Given the description of an element on the screen output the (x, y) to click on. 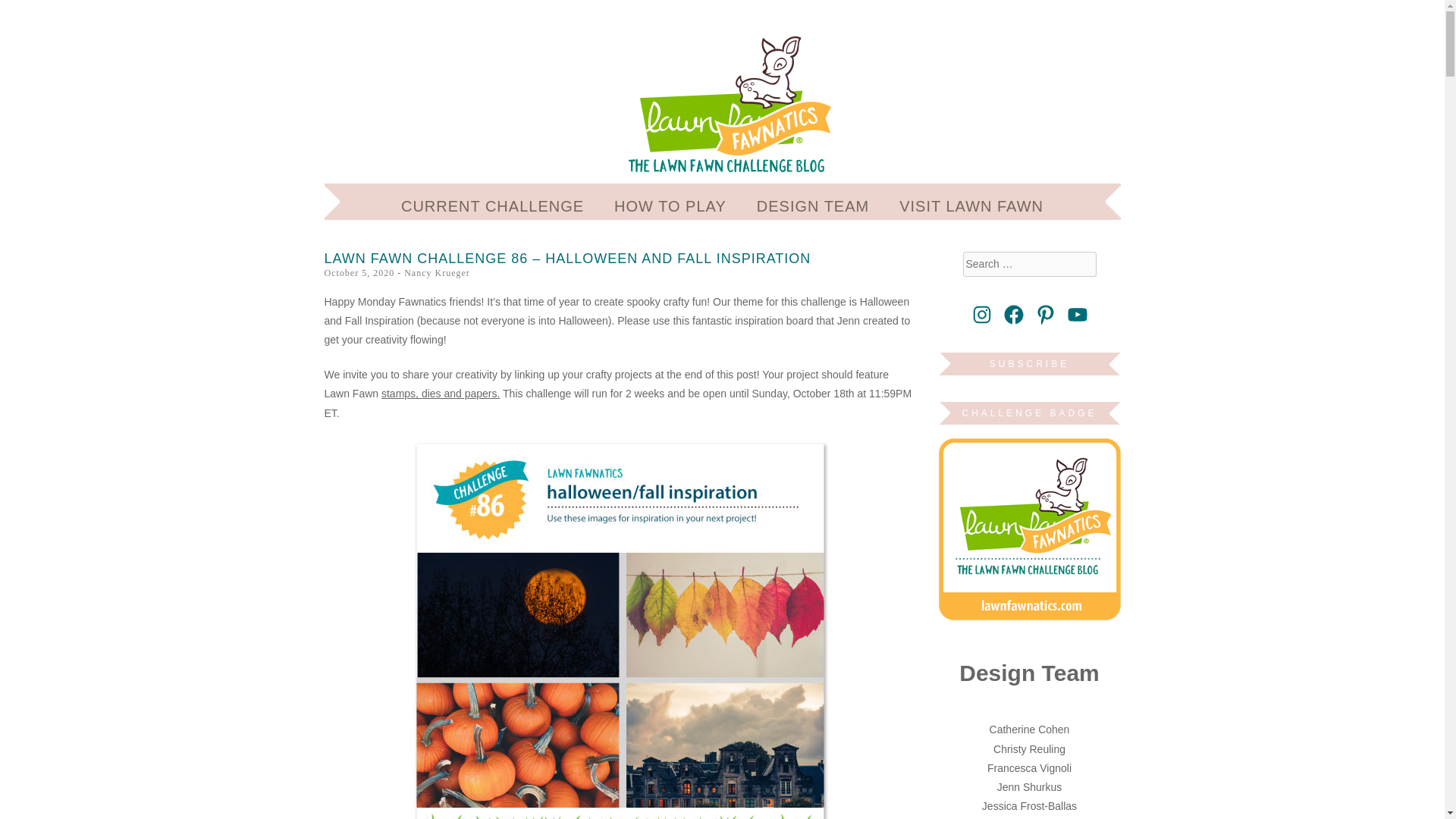
Nancy Krueger (437, 272)
LAWN FAWNATICS (536, 61)
CURRENT CHALLENGE (492, 206)
stamps, dies and papers. (440, 393)
October 5, 2020 (359, 272)
HOW TO PLAY (670, 206)
DESIGN TEAM (813, 206)
VISIT LAWN FAWN (971, 206)
